Given the description of an element on the screen output the (x, y) to click on. 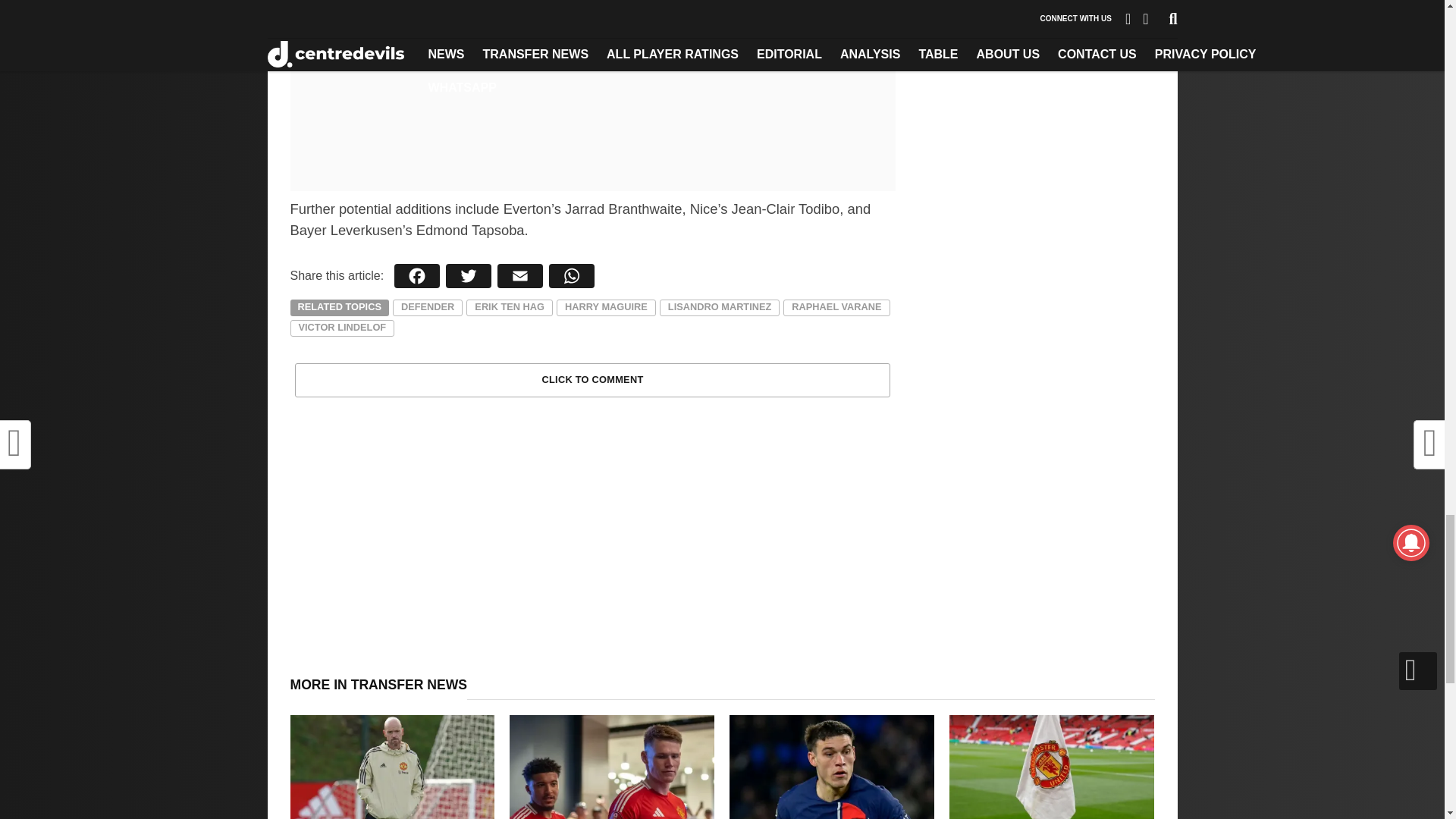
Facebook (416, 275)
WhatsApp (571, 275)
DEFENDER (428, 307)
ERIK TEN HAG (509, 307)
WhatsApp (571, 275)
Twitter (468, 275)
LISANDRO MARTINEZ (719, 307)
Facebook (416, 275)
Twitter (468, 275)
Email (520, 275)
